Given the description of an element on the screen output the (x, y) to click on. 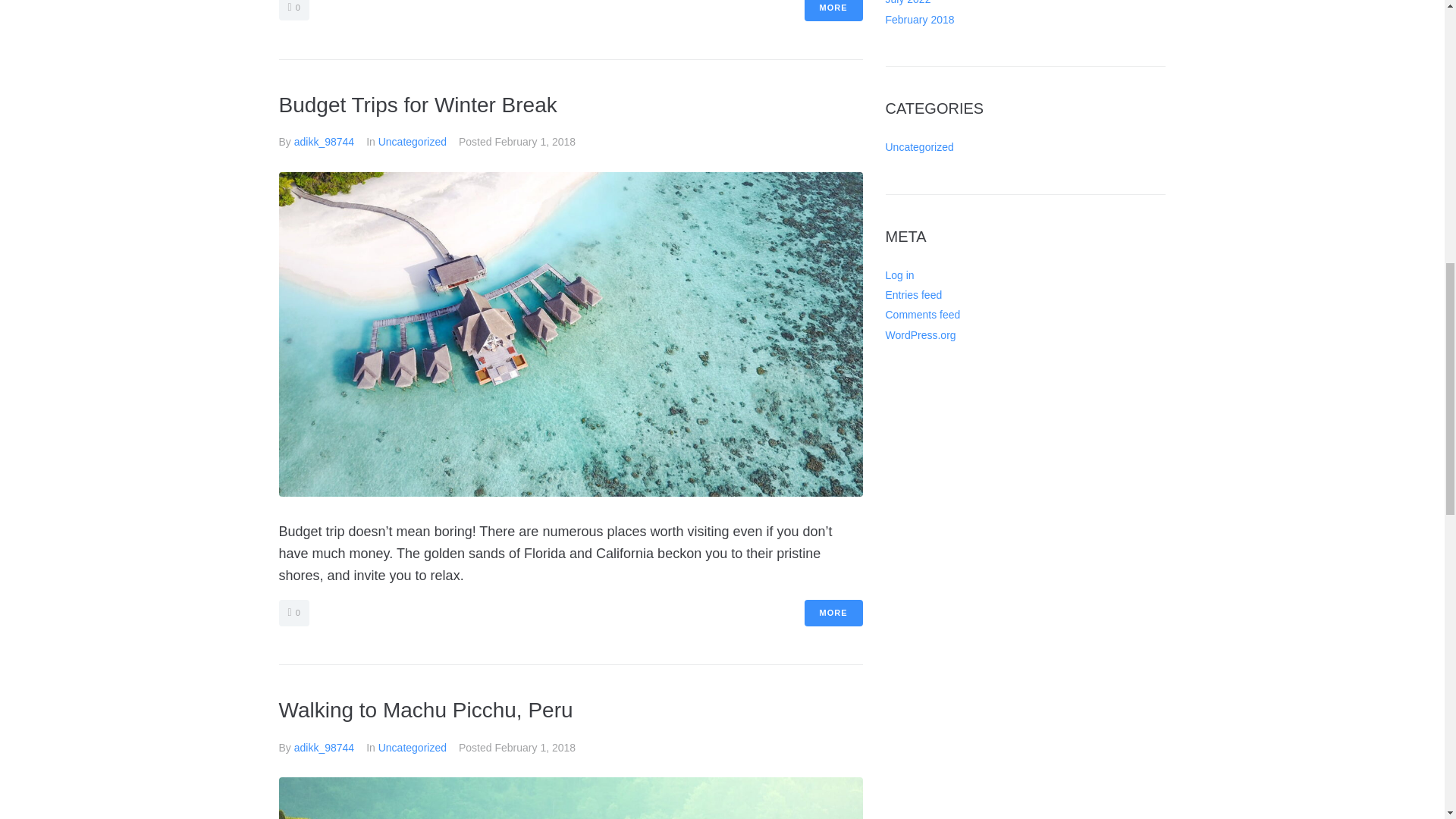
0 (293, 612)
0 (293, 10)
Uncategorized (412, 141)
Budget Trips for Winter Break (418, 105)
MORE (832, 10)
